Given the description of an element on the screen output the (x, y) to click on. 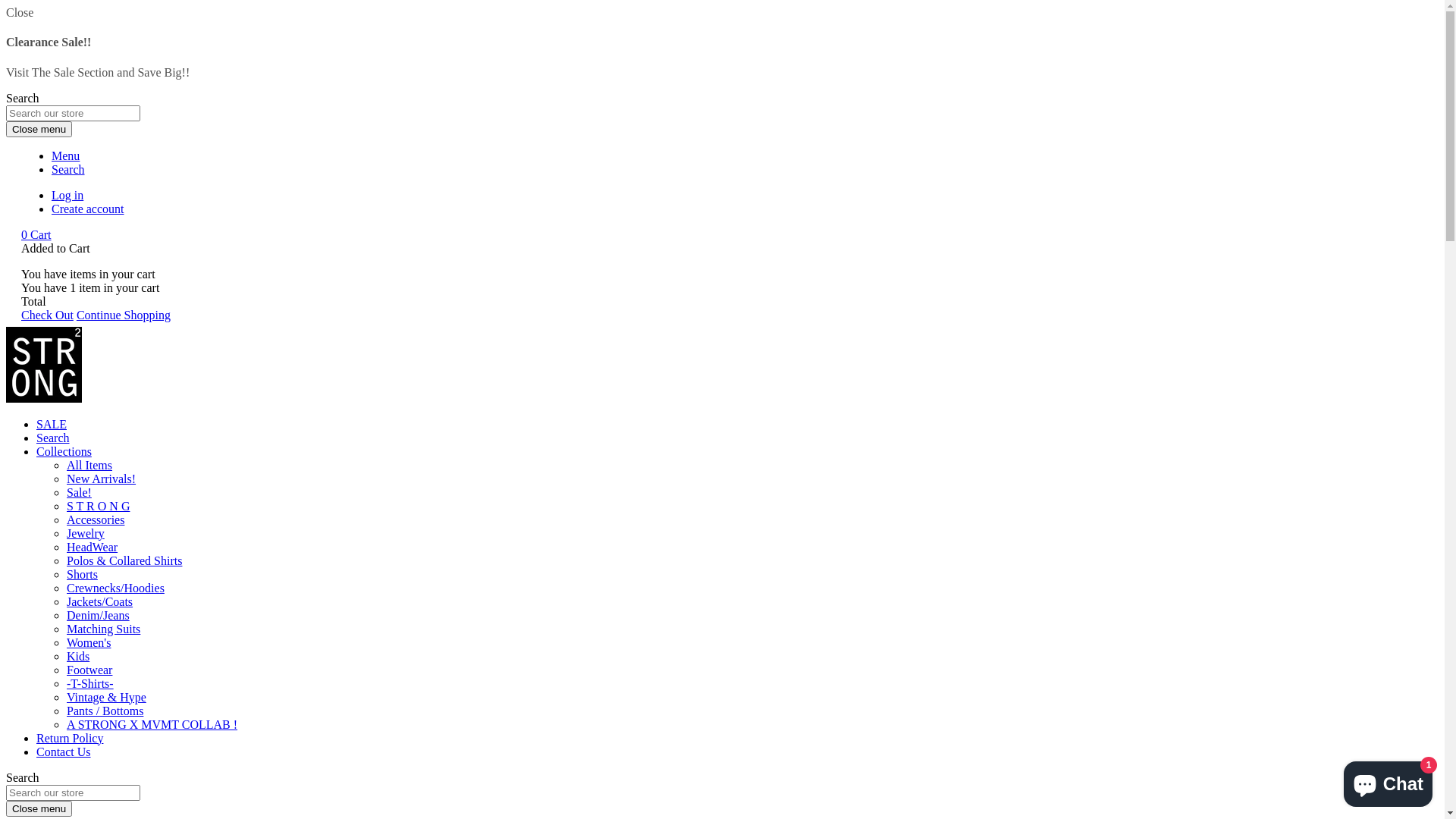
Crewnecks/Hoodies Element type: text (115, 587)
0 Cart Element type: text (36, 234)
Shorts Element type: text (81, 573)
Shopify online store chat Element type: hover (1388, 780)
Continue Shopping Element type: text (123, 314)
Accessories Element type: text (95, 519)
Denim/Jeans Element type: text (97, 614)
Sale! Element type: text (78, 492)
Jackets/Coats Element type: text (99, 601)
All Items Element type: text (89, 464)
SALE Element type: text (51, 423)
Footwear Element type: text (89, 669)
A STRONG X MVMT COLLAB ! Element type: text (151, 724)
Log in Element type: text (67, 194)
Menu Element type: text (65, 155)
Close menu Element type: text (39, 808)
Matching Suits Element type: text (103, 628)
Collections Element type: text (63, 451)
HeadWear Element type: text (91, 546)
-T-Shirts- Element type: text (89, 683)
Return Policy Element type: text (69, 737)
S T R O N G Element type: text (97, 505)
Contact Us Element type: text (63, 751)
Jewelry Element type: text (85, 533)
Vintage & Hype Element type: text (106, 696)
Search Element type: text (52, 437)
Kids Element type: text (77, 655)
New Arrivals! Element type: text (100, 478)
Close menu Element type: text (39, 129)
Search Element type: text (67, 169)
Check Out Element type: text (47, 314)
Pants / Bottoms Element type: text (104, 710)
Create account Element type: text (87, 208)
Polos & Collared Shirts Element type: text (124, 560)
Women's Element type: text (88, 642)
